Given the description of an element on the screen output the (x, y) to click on. 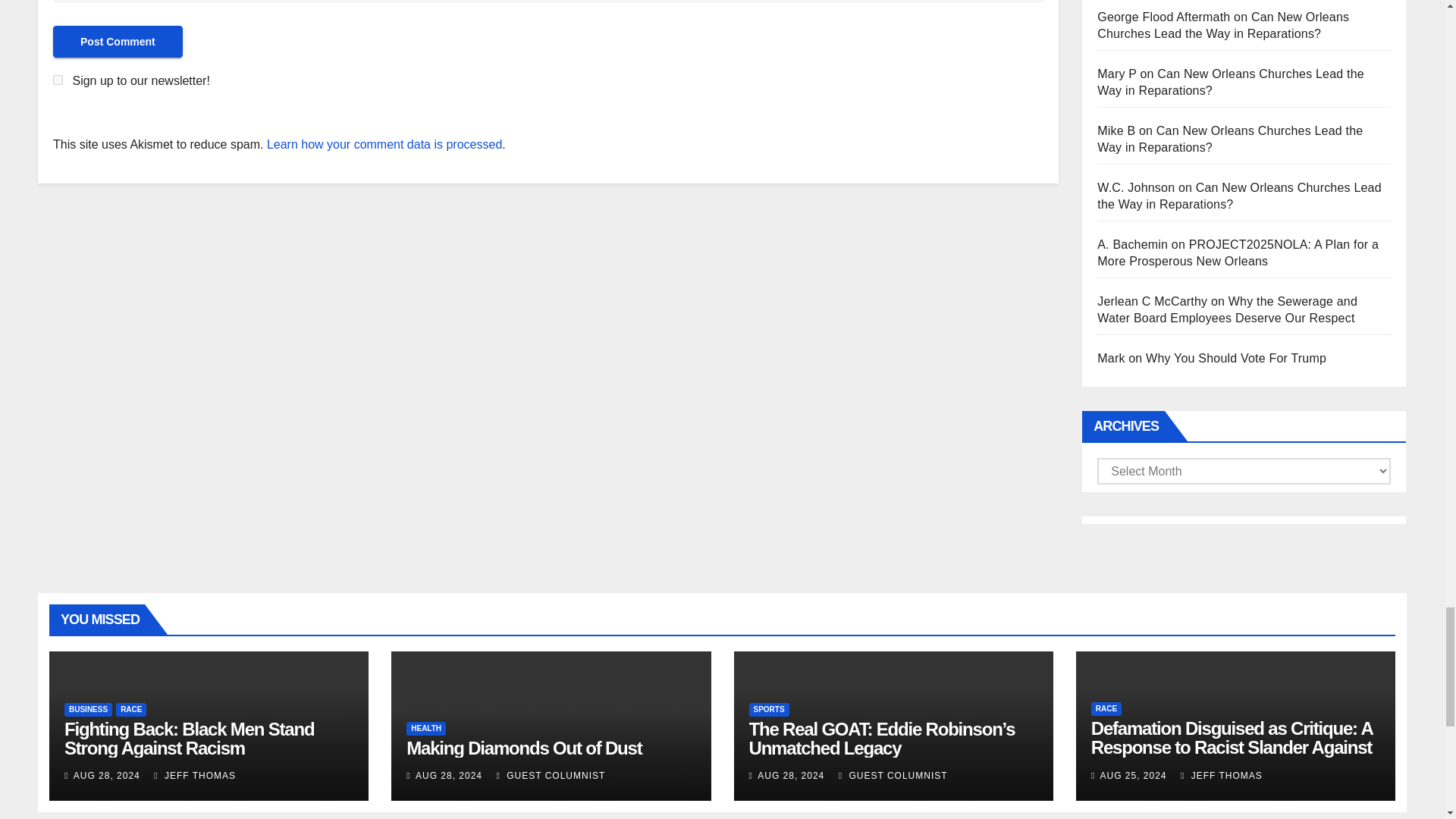
1 (57, 80)
Post Comment (117, 41)
Permalink to: Making Diamonds Out of Dust (524, 747)
